Given the description of an element on the screen output the (x, y) to click on. 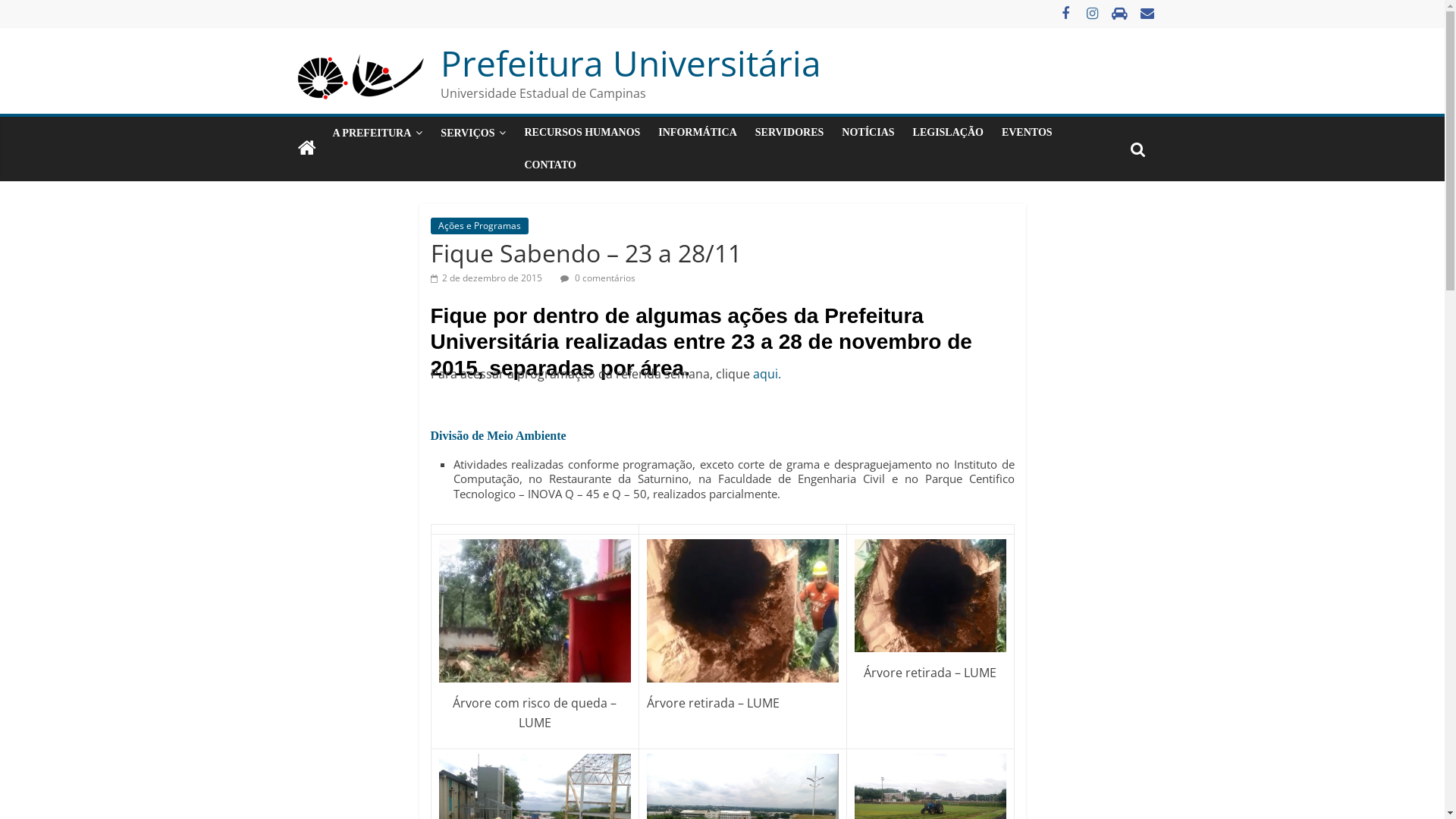
aqui Element type: text (764, 373)
A PREFEITURA Element type: text (377, 132)
SERVIDORES Element type: text (789, 132)
DMA 20151202 002.jpg Element type: hover (742, 610)
EVENTOS Element type: text (1026, 132)
2 de dezembro de 2015 Element type: text (486, 277)
. Element type: text (779, 373)
CONTATO Element type: text (549, 165)
DMA 20151202 003.jpg Element type: hover (534, 610)
RECURSOS HUMANOS Element type: text (581, 132)
DMA 20151202 001.jpg Element type: hover (929, 595)
